Given the description of an element on the screen output the (x, y) to click on. 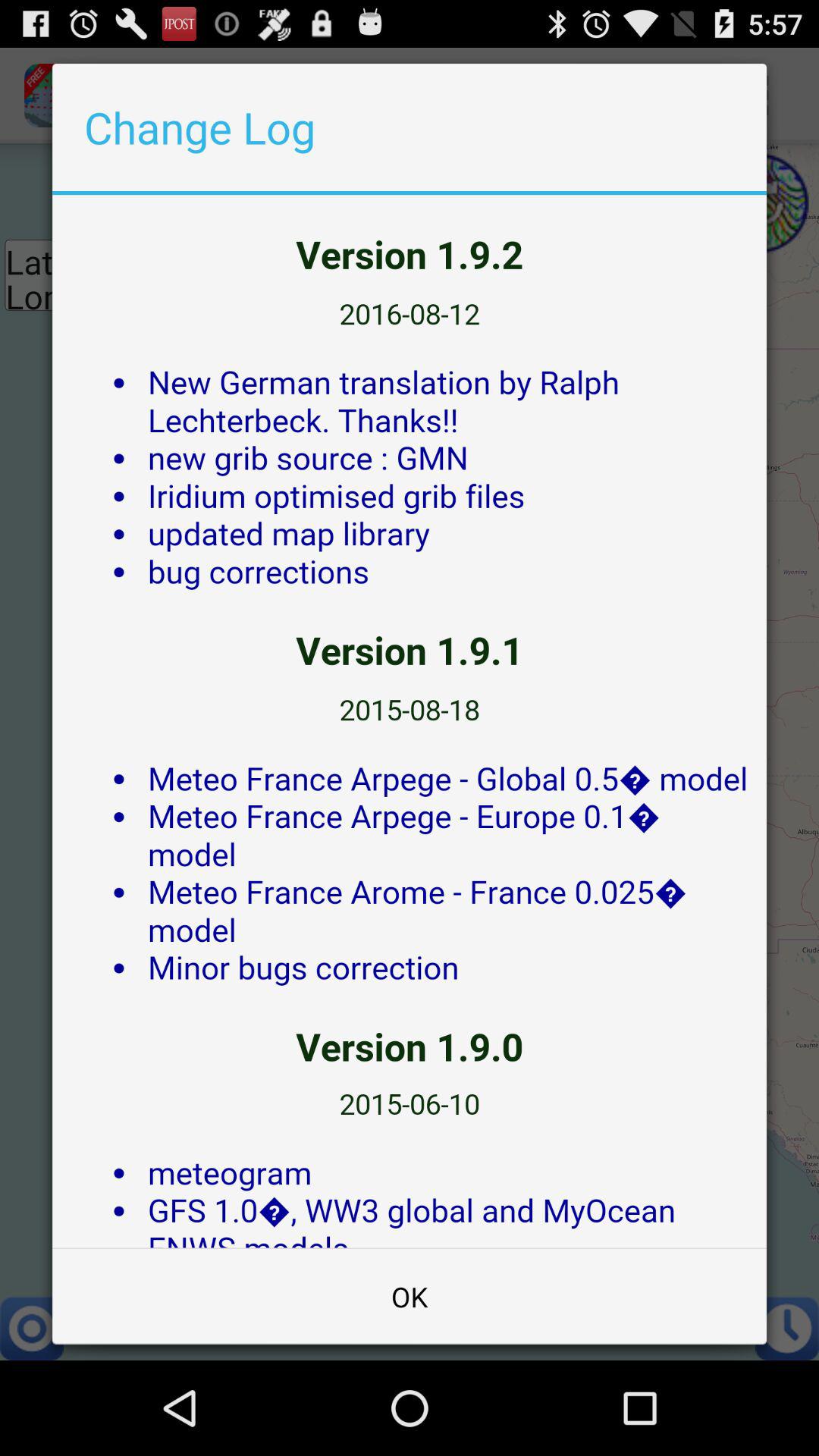
about phone (409, 721)
